Given the description of an element on the screen output the (x, y) to click on. 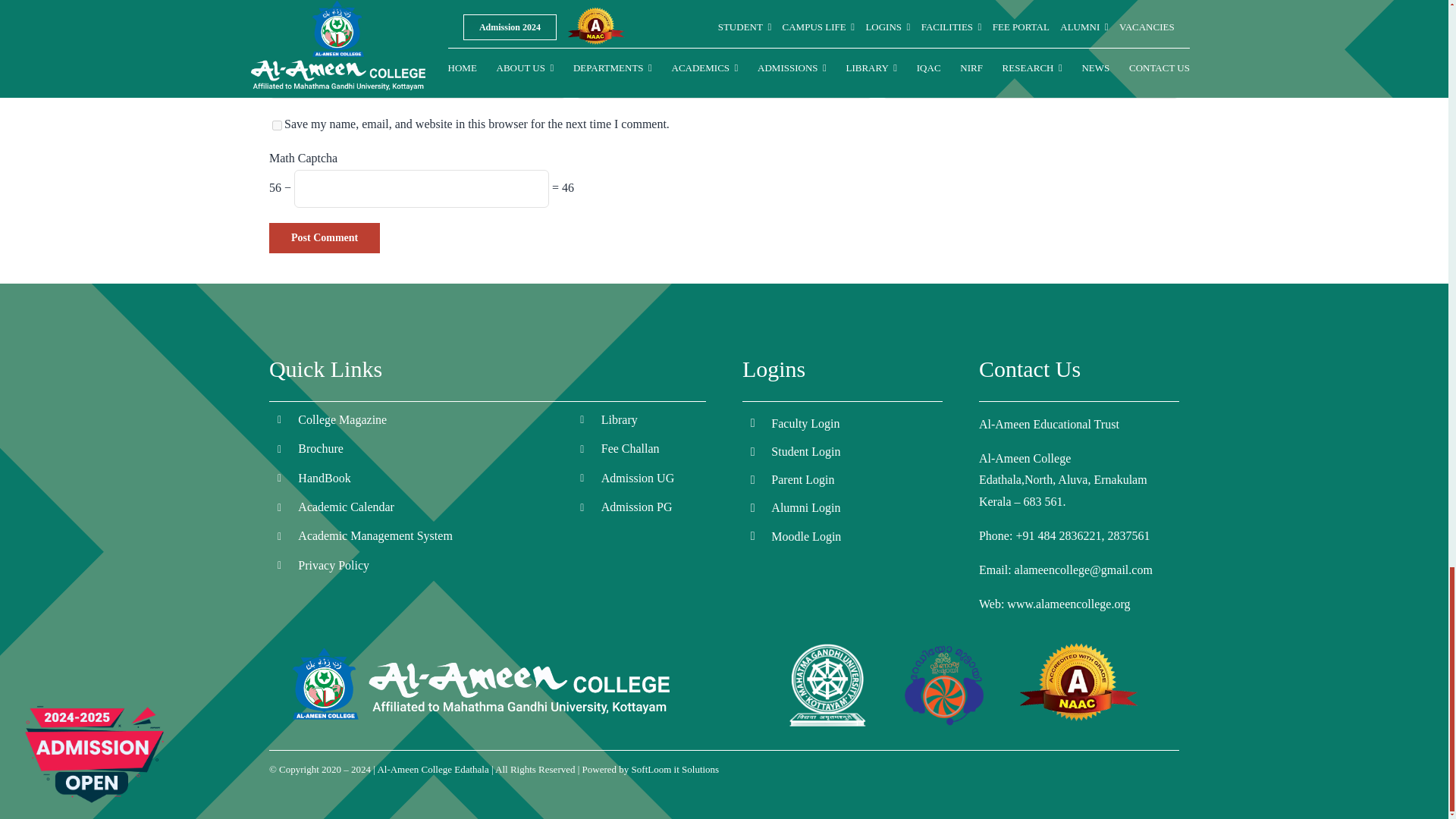
Post Comment (324, 237)
yes (277, 125)
